Given the description of an element on the screen output the (x, y) to click on. 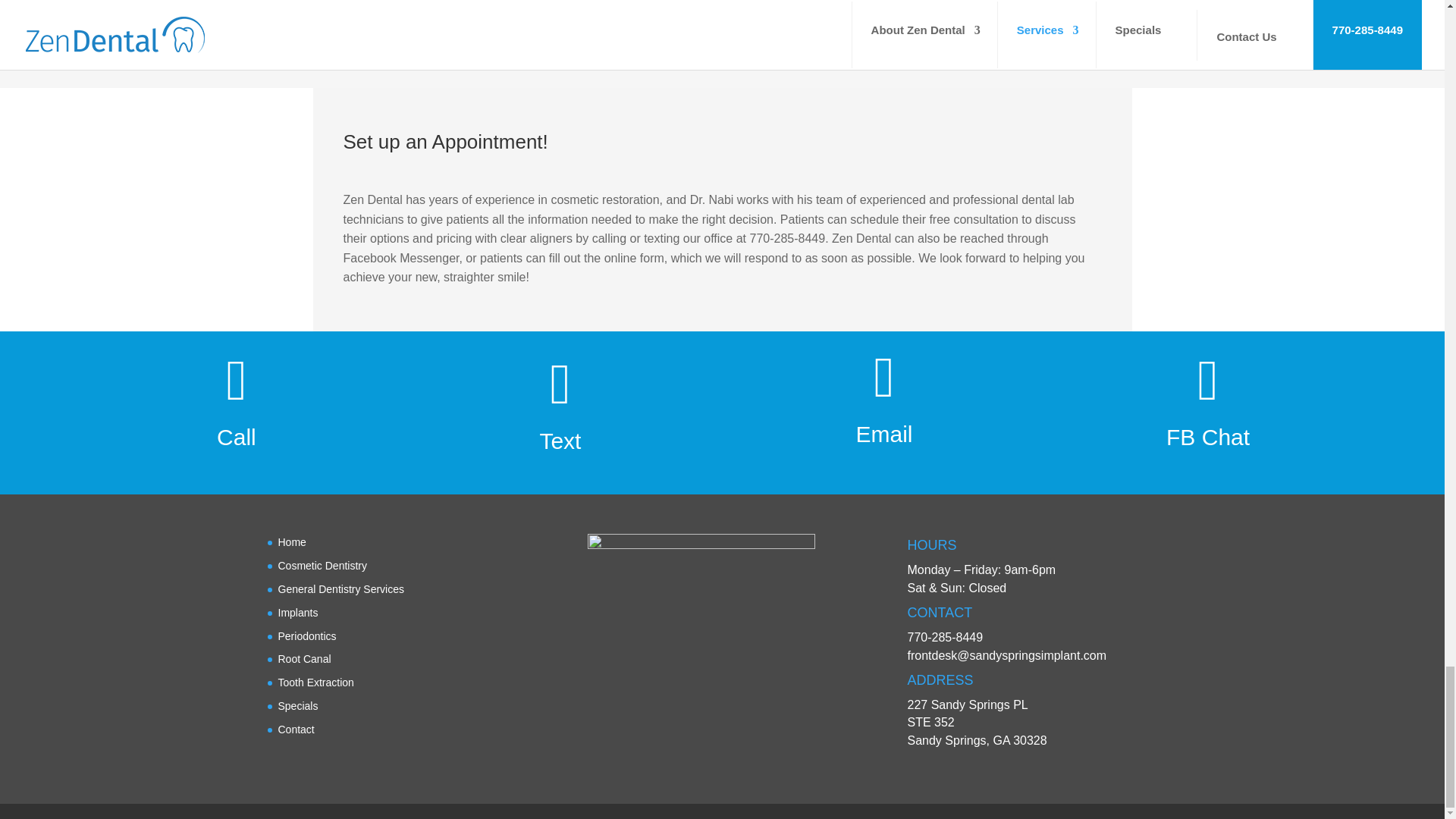
Apply Now! (1010, 5)
General Dentistry Services (341, 589)
Home (291, 541)
Cosmetic Dentistry (322, 565)
